Given the description of an element on the screen output the (x, y) to click on. 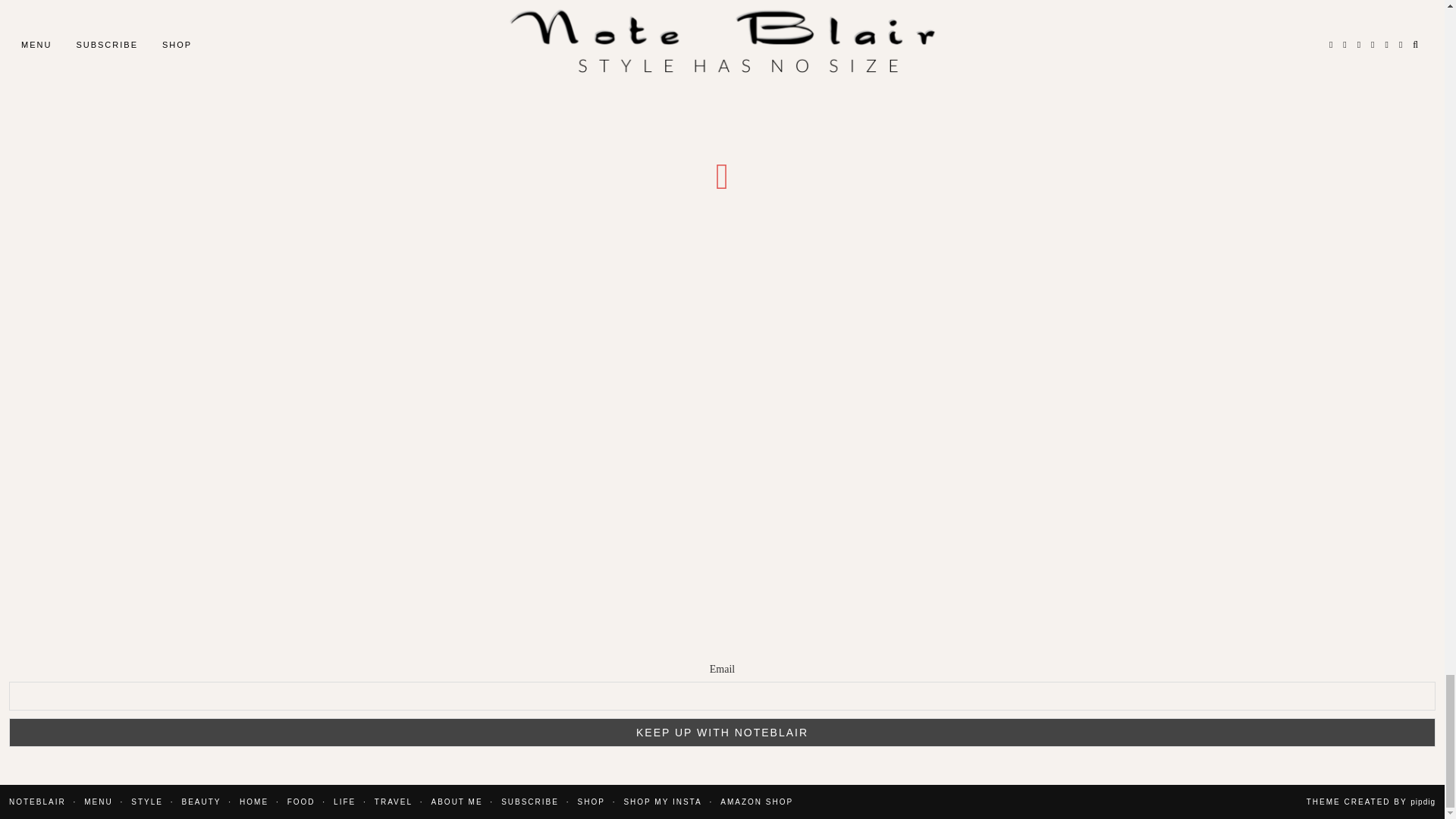
Keep up with noteblair (721, 732)
